Given the description of an element on the screen output the (x, y) to click on. 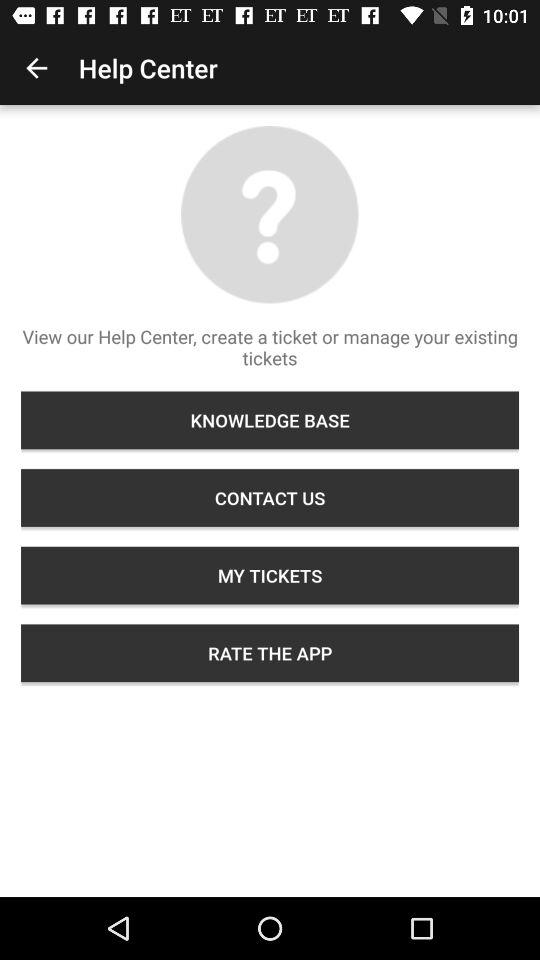
tap the icon above rate the app icon (270, 575)
